Given the description of an element on the screen output the (x, y) to click on. 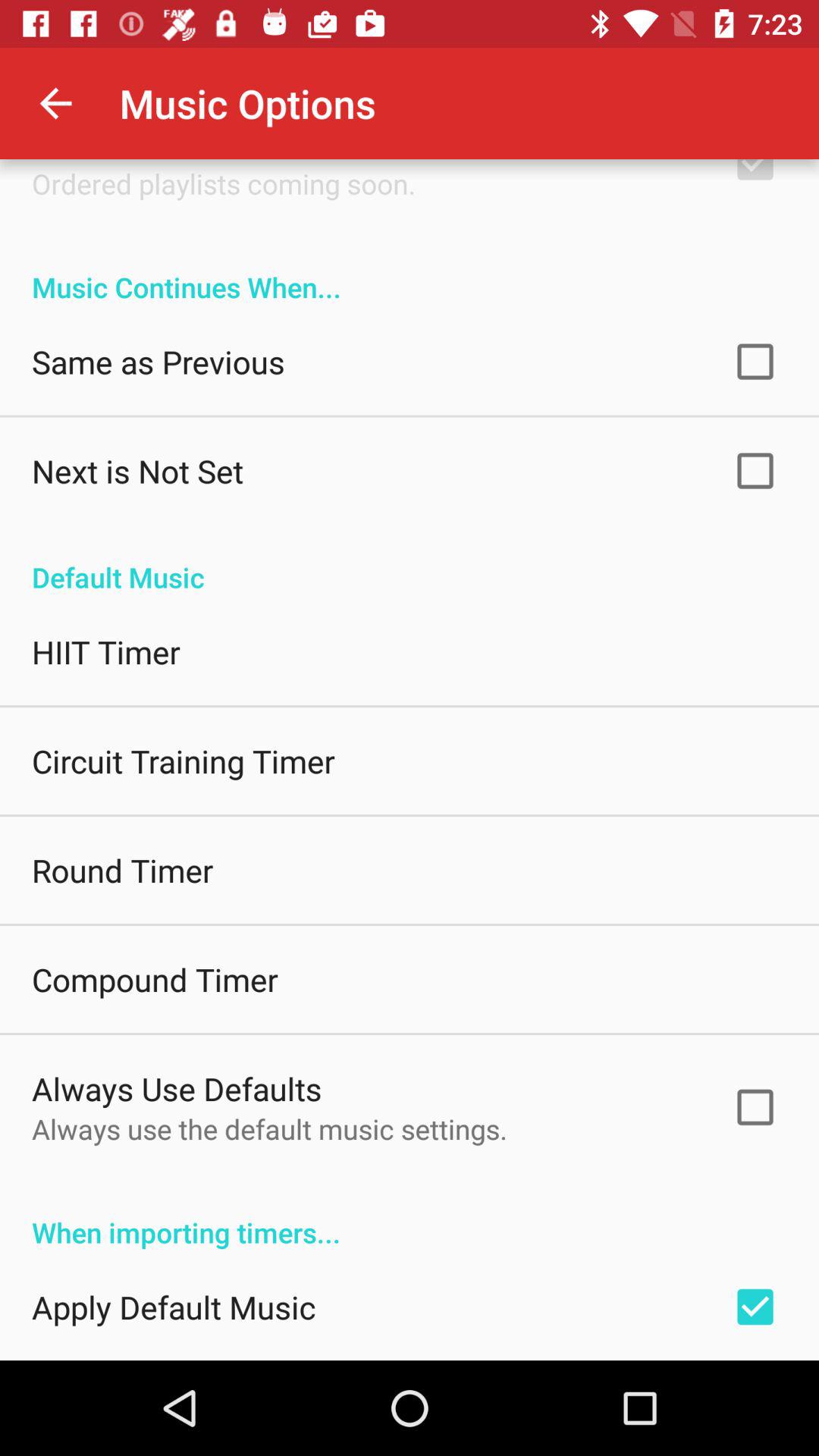
tap the icon below the shuffle music icon (223, 183)
